Given the description of an element on the screen output the (x, y) to click on. 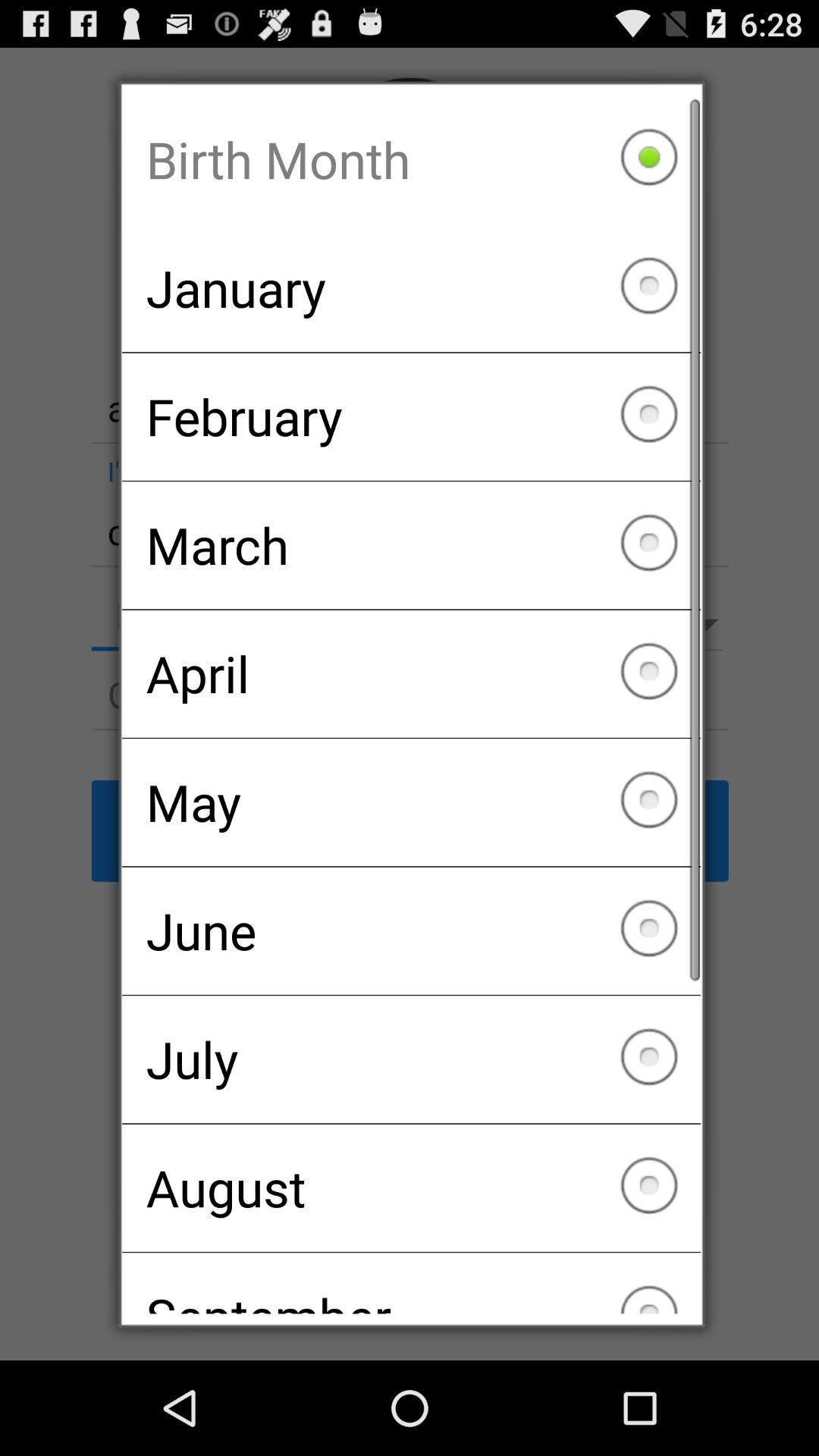
jump to may (411, 802)
